Given the description of an element on the screen output the (x, y) to click on. 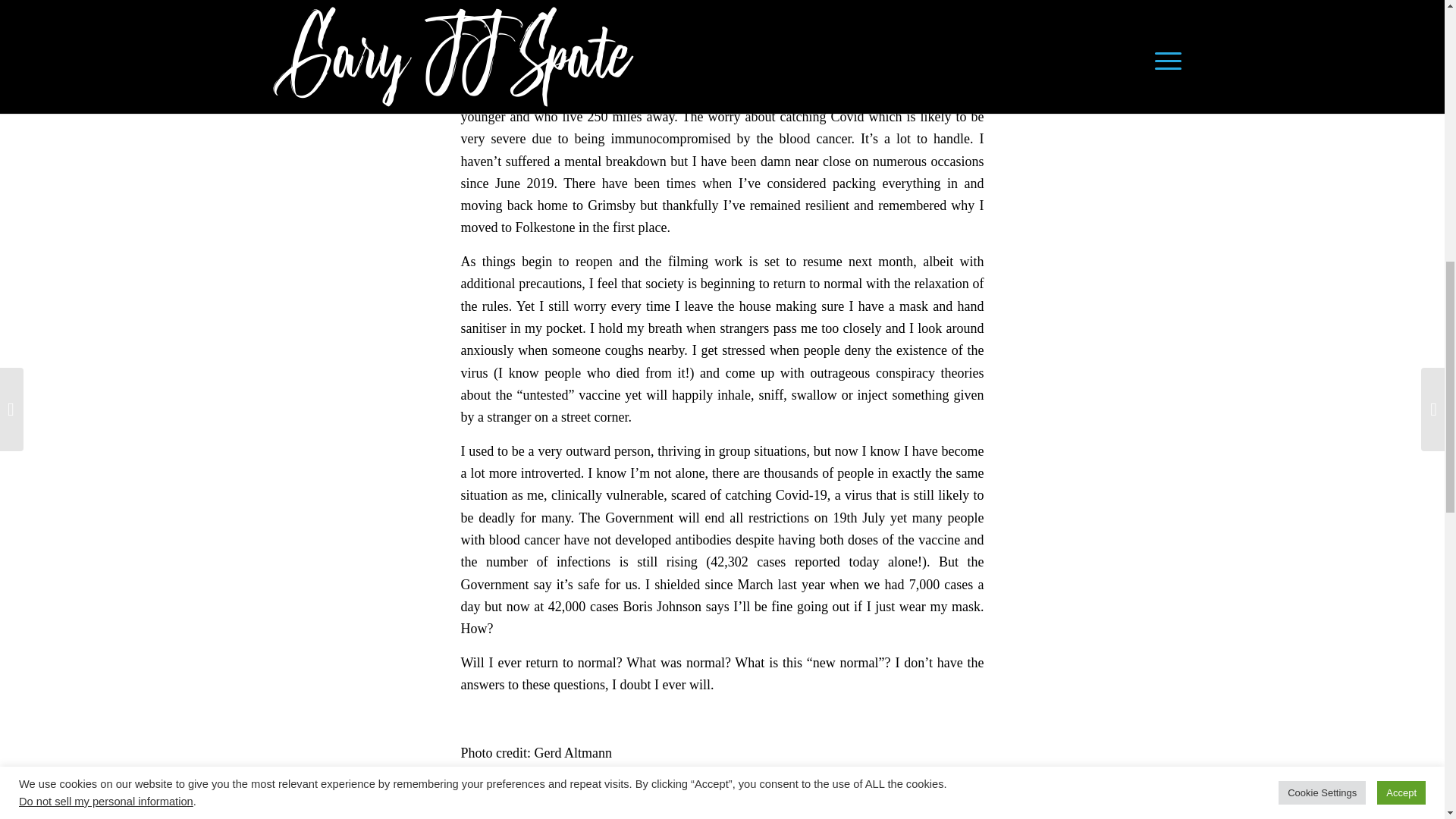
Gerd Altmann (572, 752)
